Given the description of an element on the screen output the (x, y) to click on. 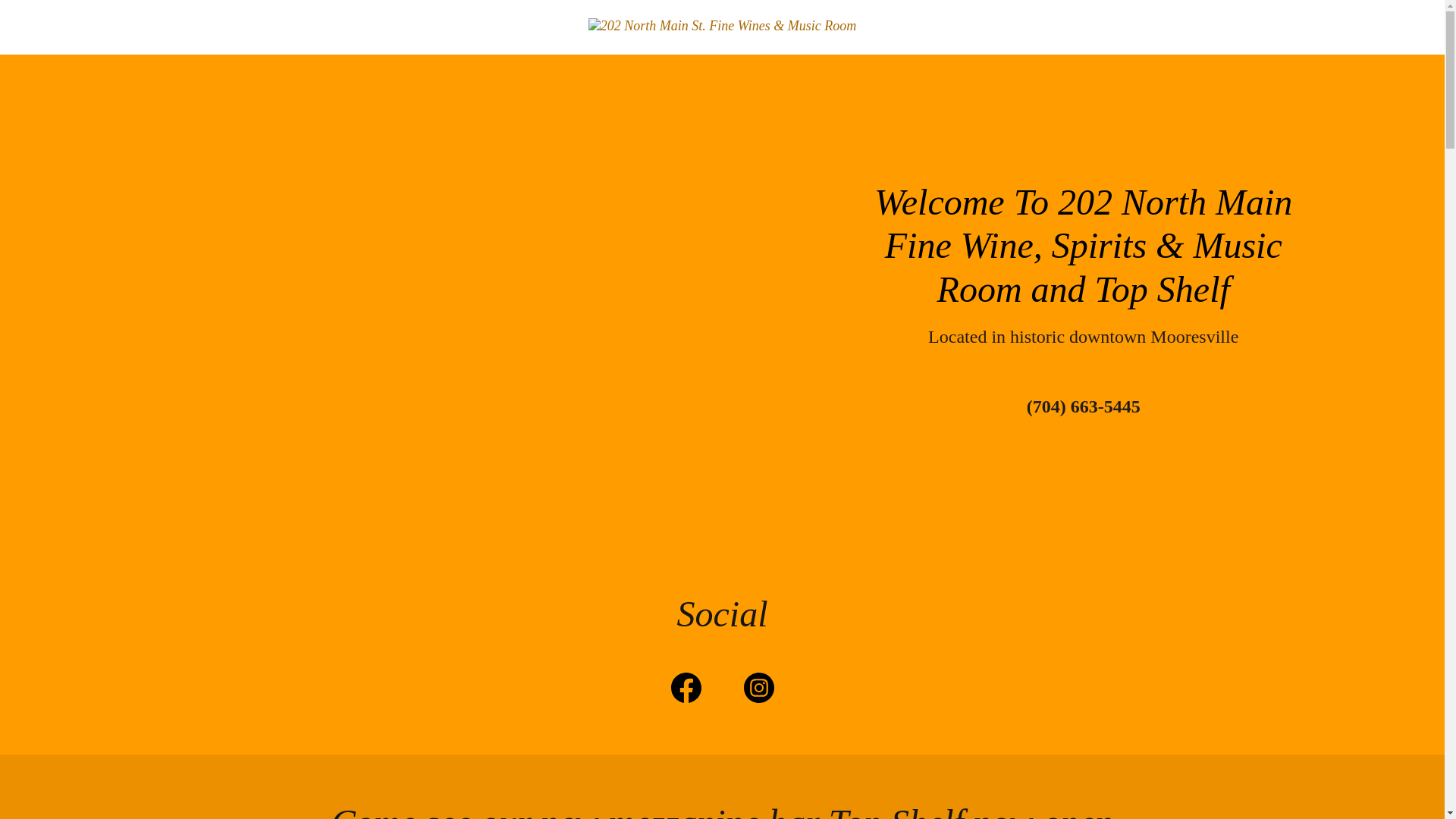
(704) 663-5445 Element type: text (1083, 406)
202 North Main St. Fine Wines & Music Room Element type: hover (721, 24)
